Given the description of an element on the screen output the (x, y) to click on. 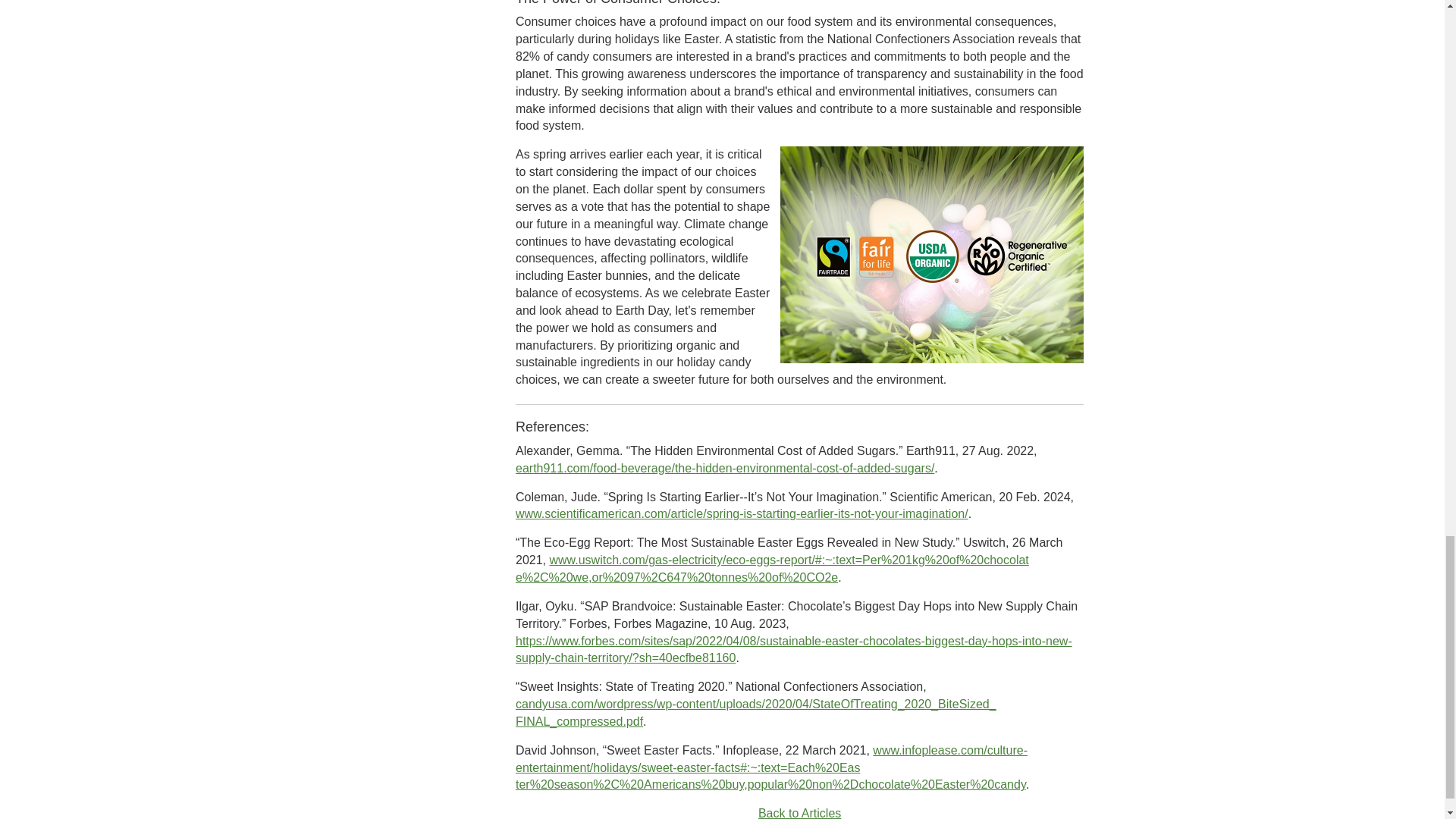
Back to Articles (799, 812)
